Given the description of an element on the screen output the (x, y) to click on. 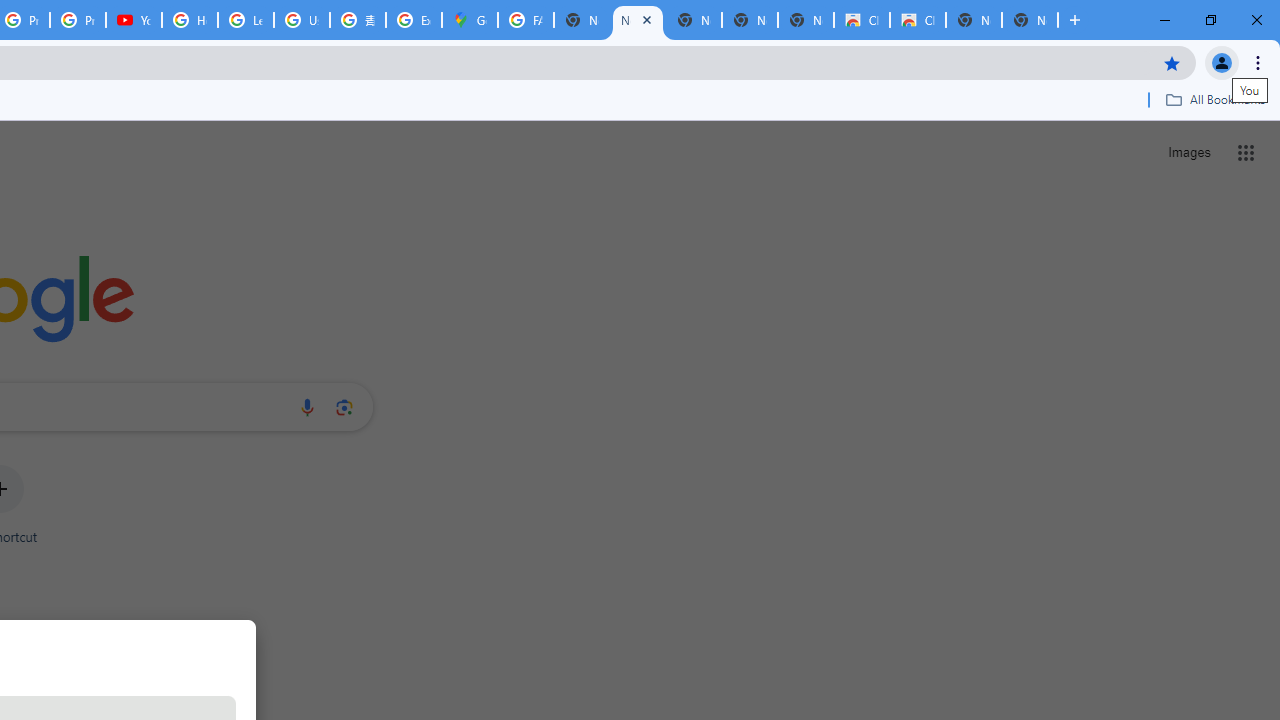
YouTube (134, 20)
Classic Blue - Chrome Web Store (917, 20)
How Chrome protects your passwords - Google Chrome Help (189, 20)
